Given the description of an element on the screen output the (x, y) to click on. 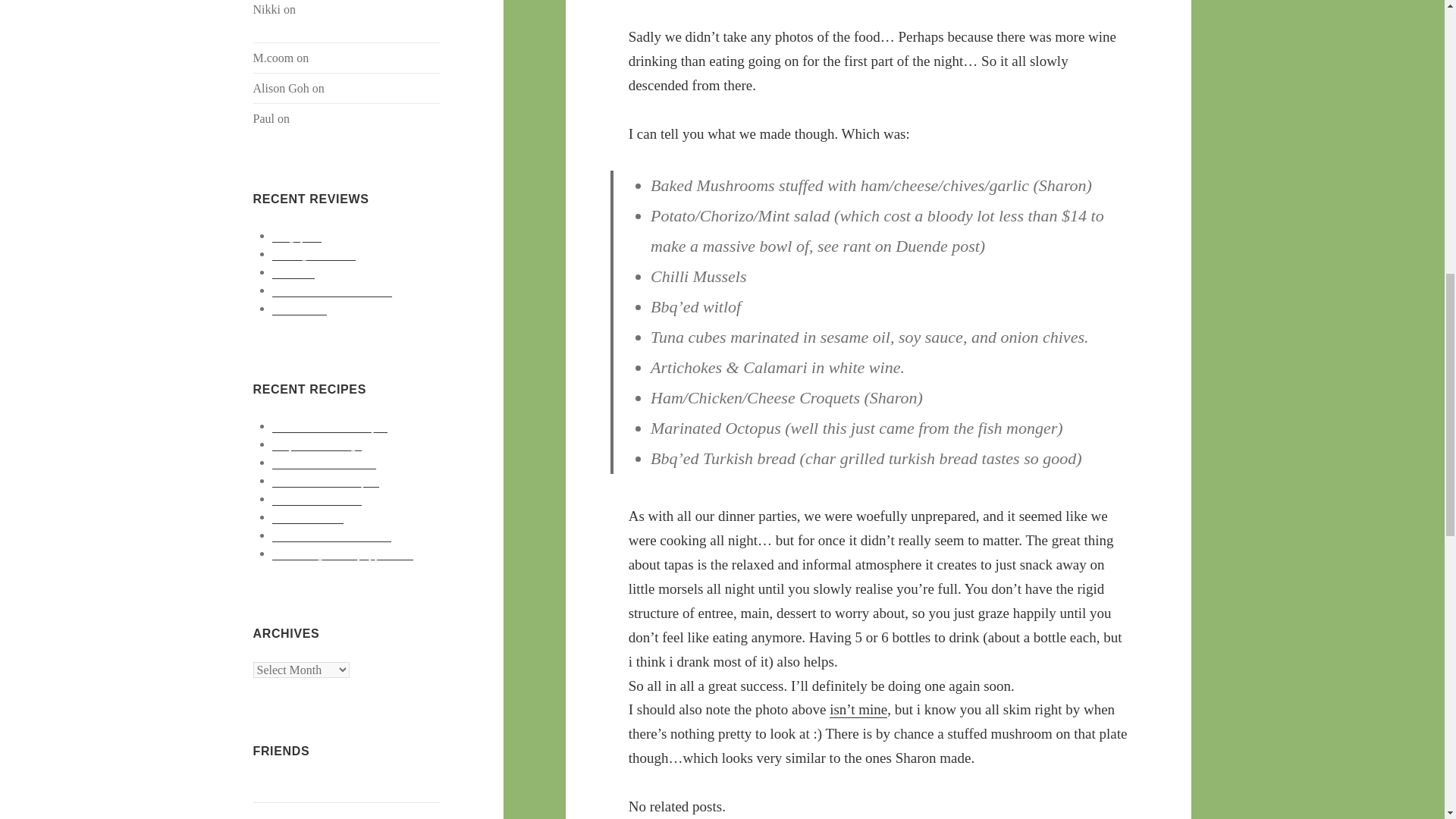
Alex Millier (283, 787)
Monogram Caffe (313, 254)
View post Nahm Thai (299, 308)
Singapore (296, 235)
View post Faux Risotto of Squid (325, 480)
Rabbit ragu with pappardelle (342, 553)
View post Singapore (296, 235)
View post Gnocchi with the Papas (329, 426)
Dragon Tea House (372, 88)
Nahm Thai (299, 308)
Sole Meuniere (307, 517)
Colombian Sancocho (323, 462)
Five Bar (293, 272)
Pulpo a la Gallega (316, 444)
View post Pulpo a la Gallega (316, 444)
